Given the description of an element on the screen output the (x, y) to click on. 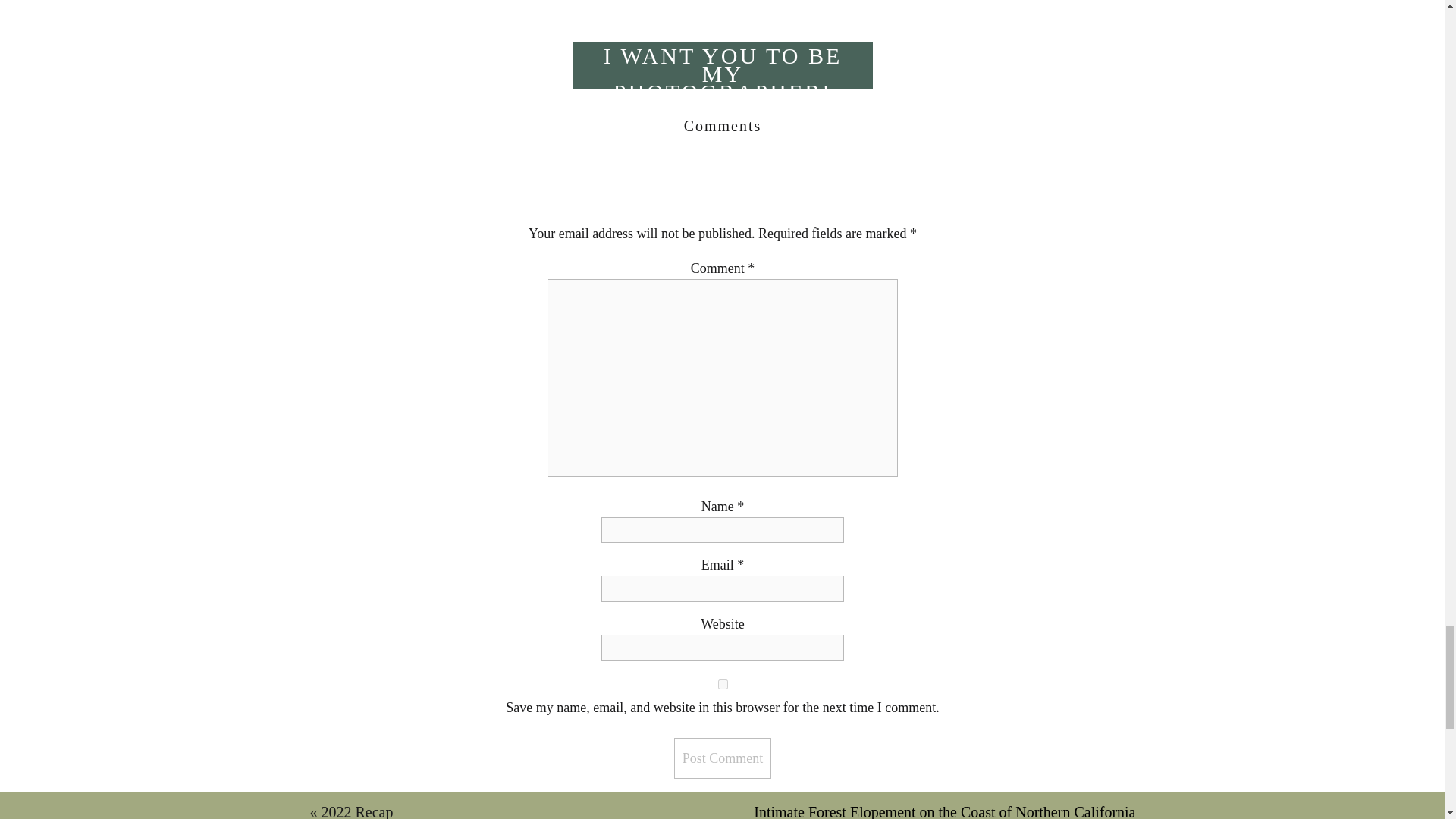
yes (722, 684)
Post Comment (722, 757)
